Given the description of an element on the screen output the (x, y) to click on. 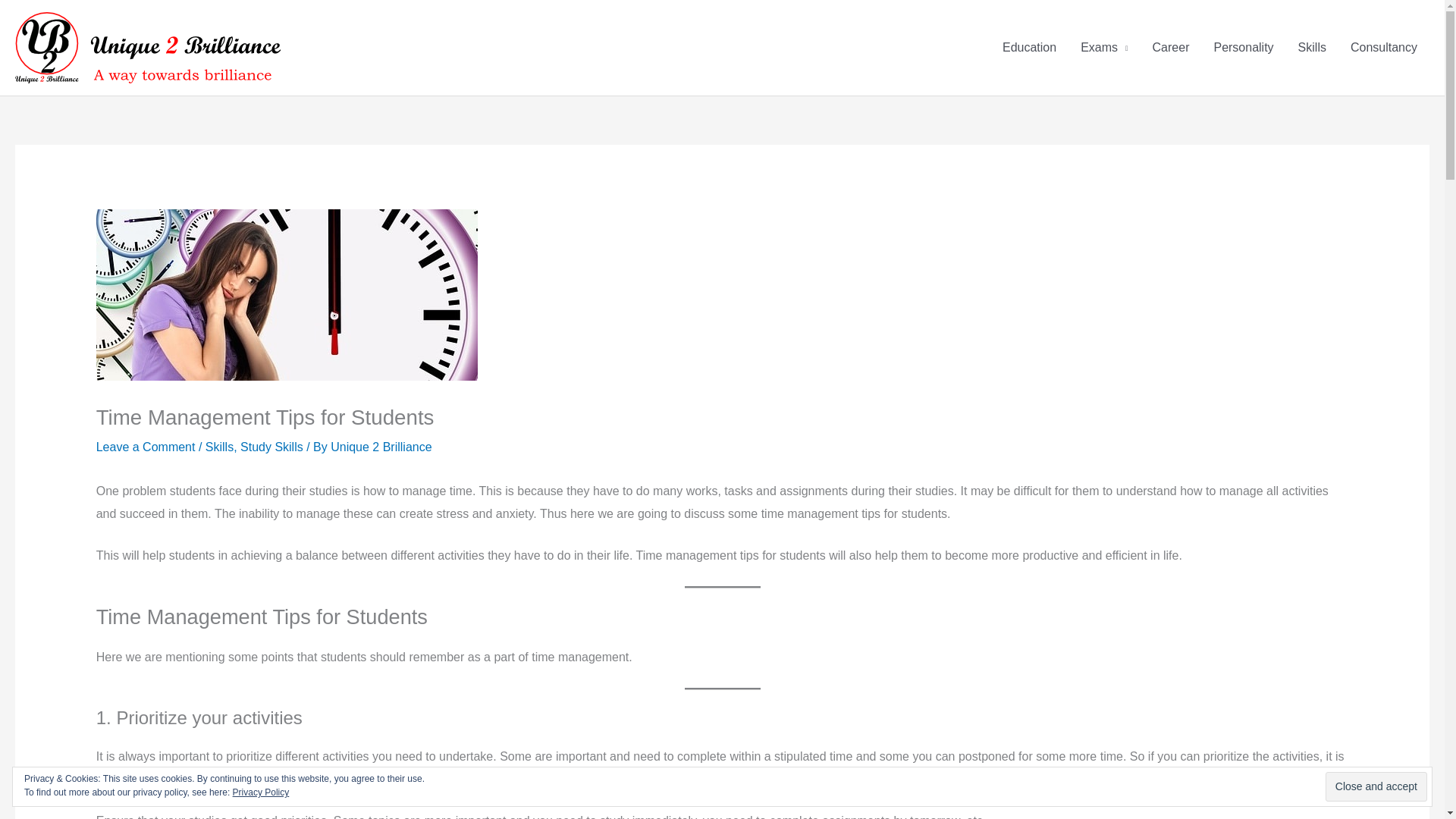
Unique 2 Brilliance (380, 446)
View all posts by Unique 2 Brilliance (380, 446)
Leave a Comment (145, 446)
Skills (218, 446)
Consultancy (1383, 47)
Study Skills (271, 446)
Close and accept (1375, 786)
